Given the description of an element on the screen output the (x, y) to click on. 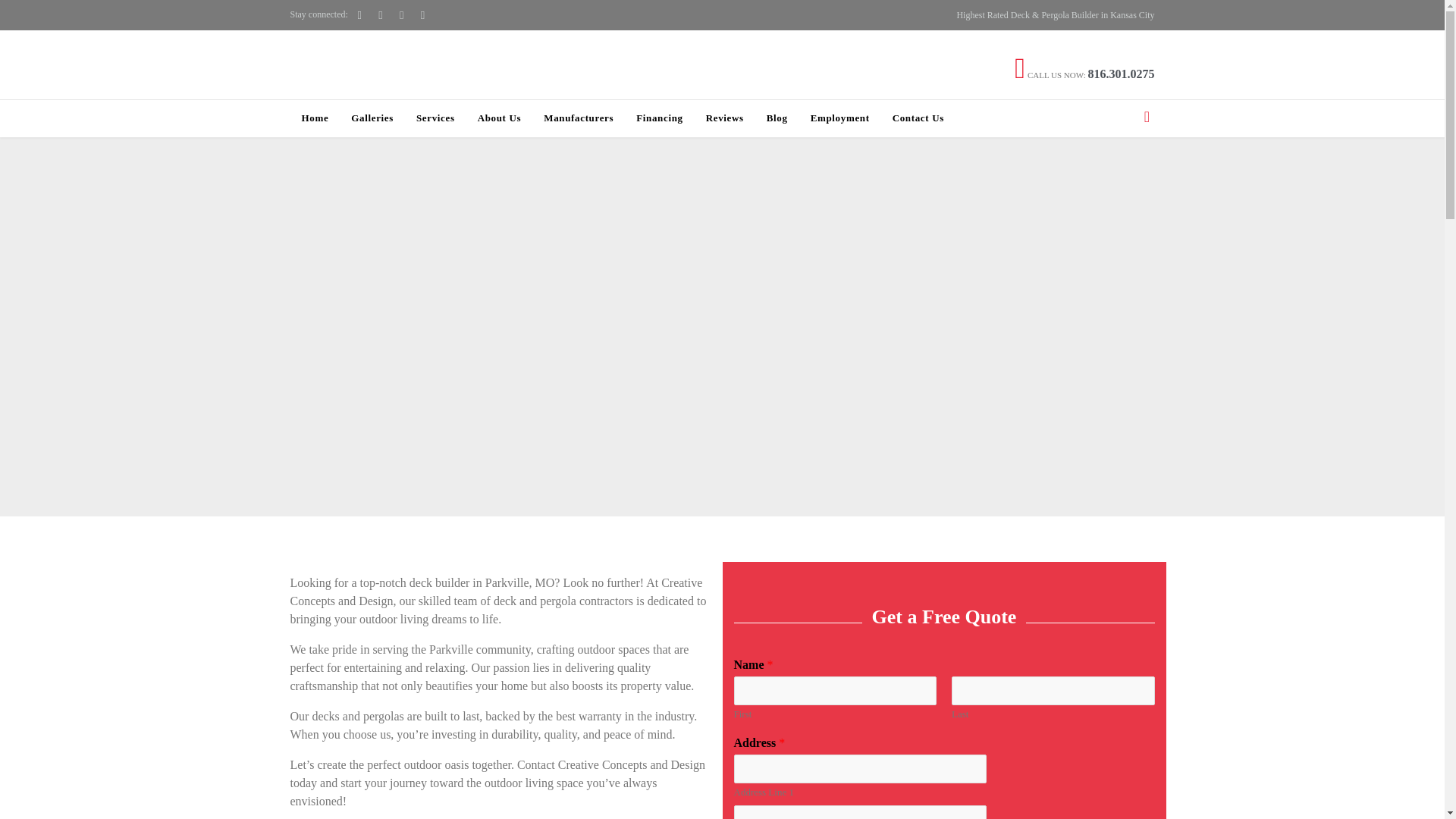
Manufacturers (577, 119)
Reviews (725, 119)
Galleries (371, 119)
Services (435, 119)
Financing (659, 119)
About Us (499, 119)
816.301.0275 (1120, 73)
Contact Us (917, 119)
Employment (839, 119)
